Given the description of an element on the screen output the (x, y) to click on. 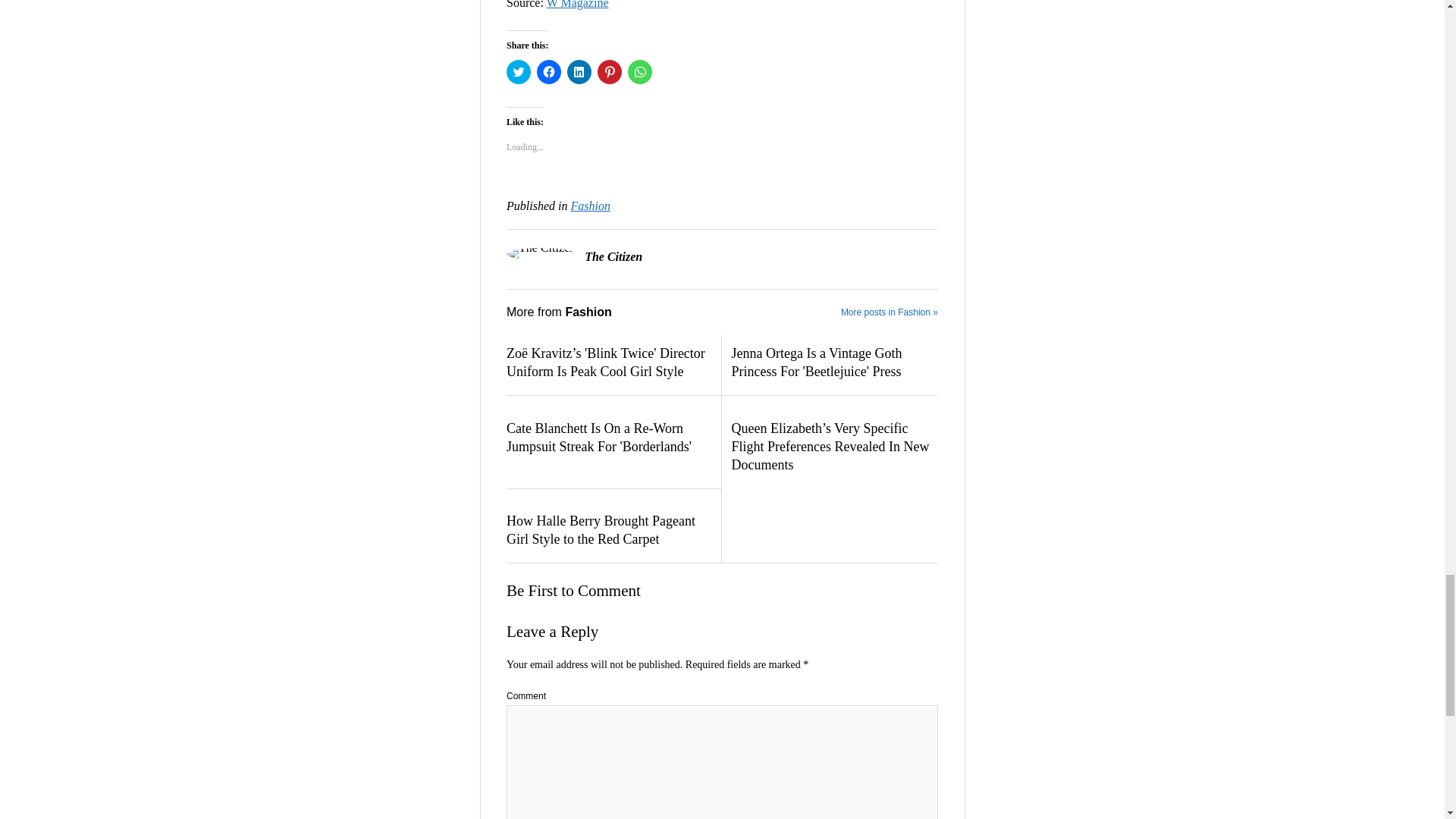
View all posts in Fashion (590, 205)
How Halle Berry Brought Pageant Girl Style to the Red Carpet (608, 530)
Click to share on Pinterest (608, 71)
Click to share on Twitter (518, 71)
W Magazine (577, 4)
Click to share on Facebook (548, 71)
Click to share on LinkedIn (579, 71)
Click to share on WhatsApp (639, 71)
